Given the description of an element on the screen output the (x, y) to click on. 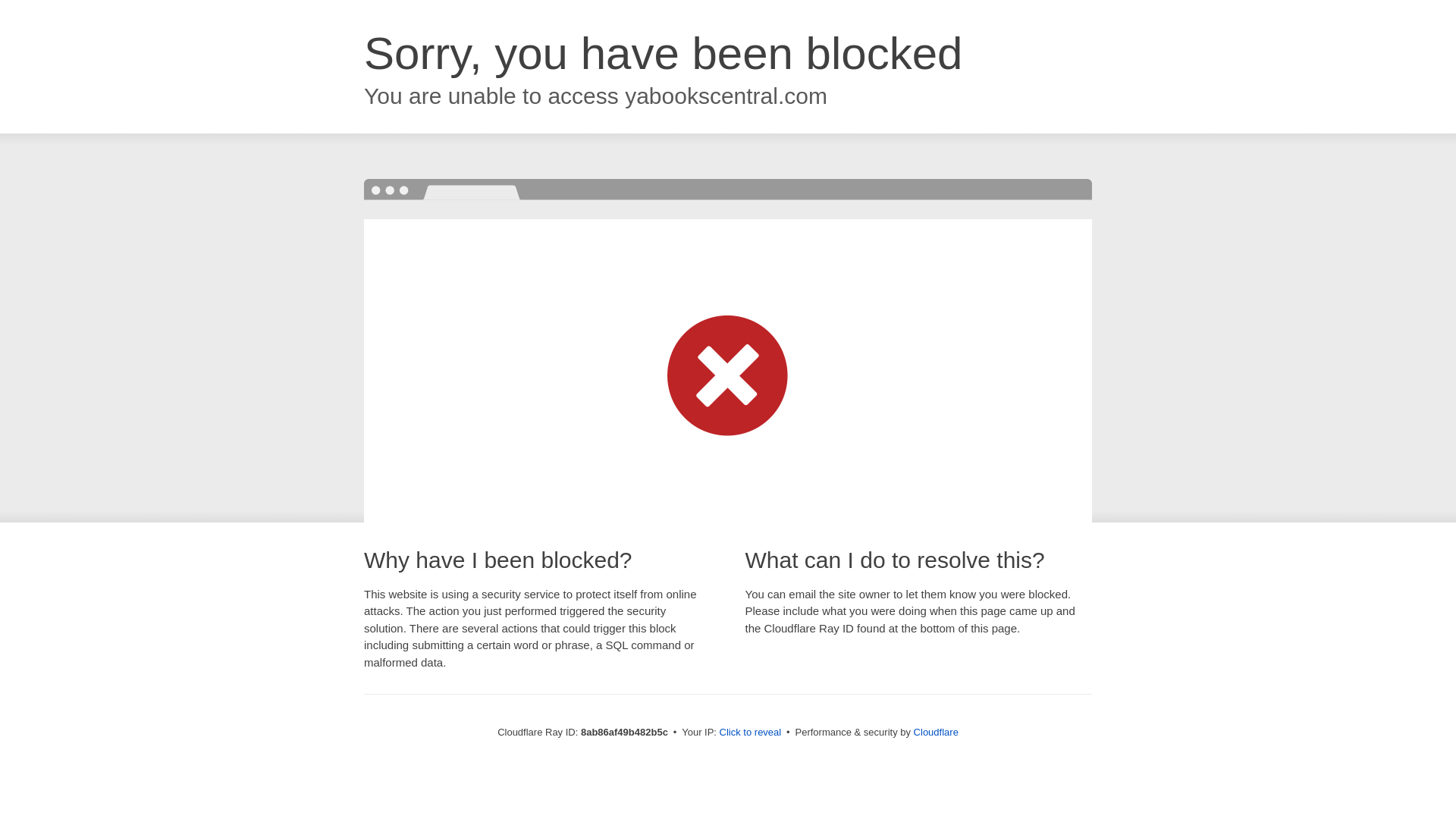
Click to reveal (750, 732)
Cloudflare (936, 731)
